Given the description of an element on the screen output the (x, y) to click on. 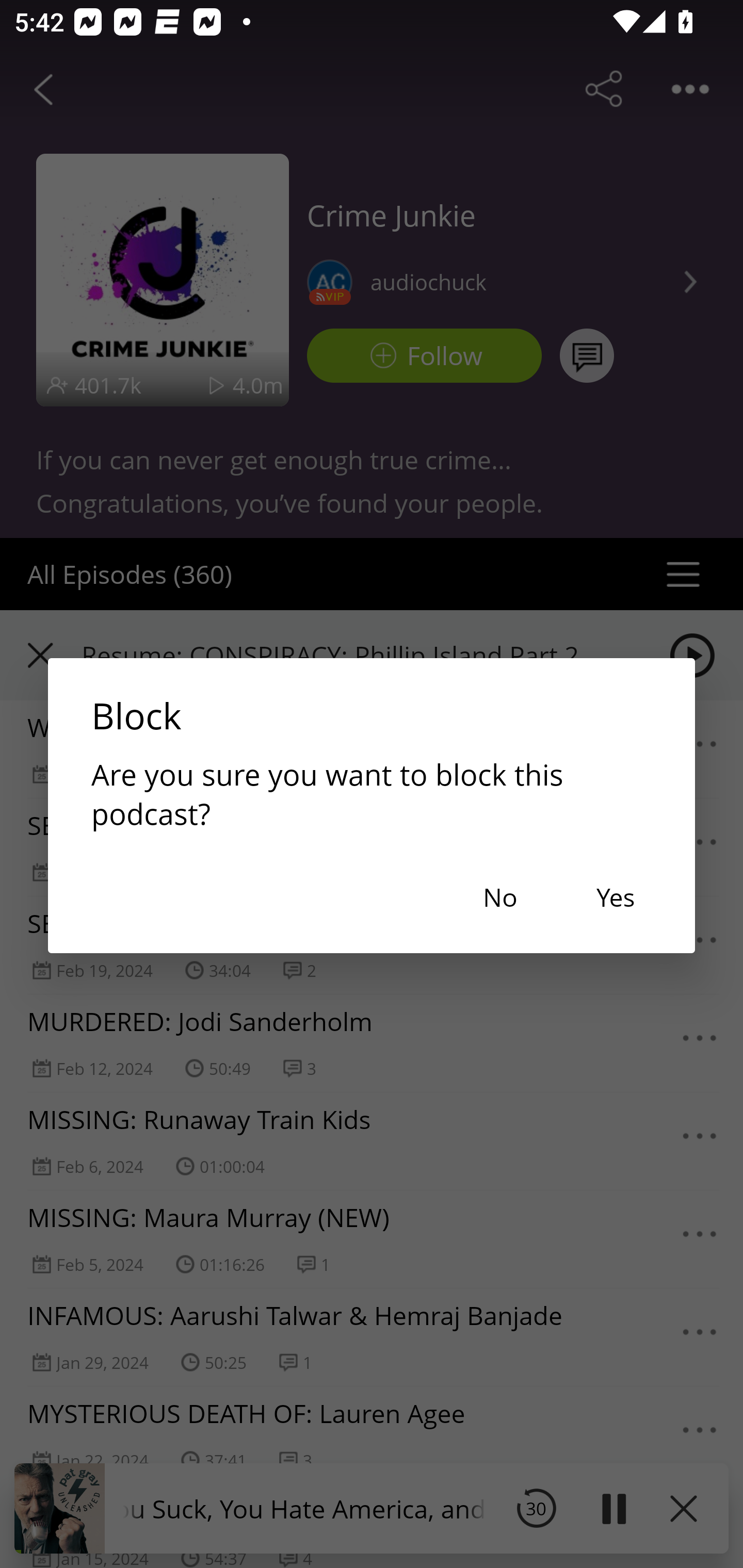
No (499, 896)
Yes (615, 896)
